Given the description of an element on the screen output the (x, y) to click on. 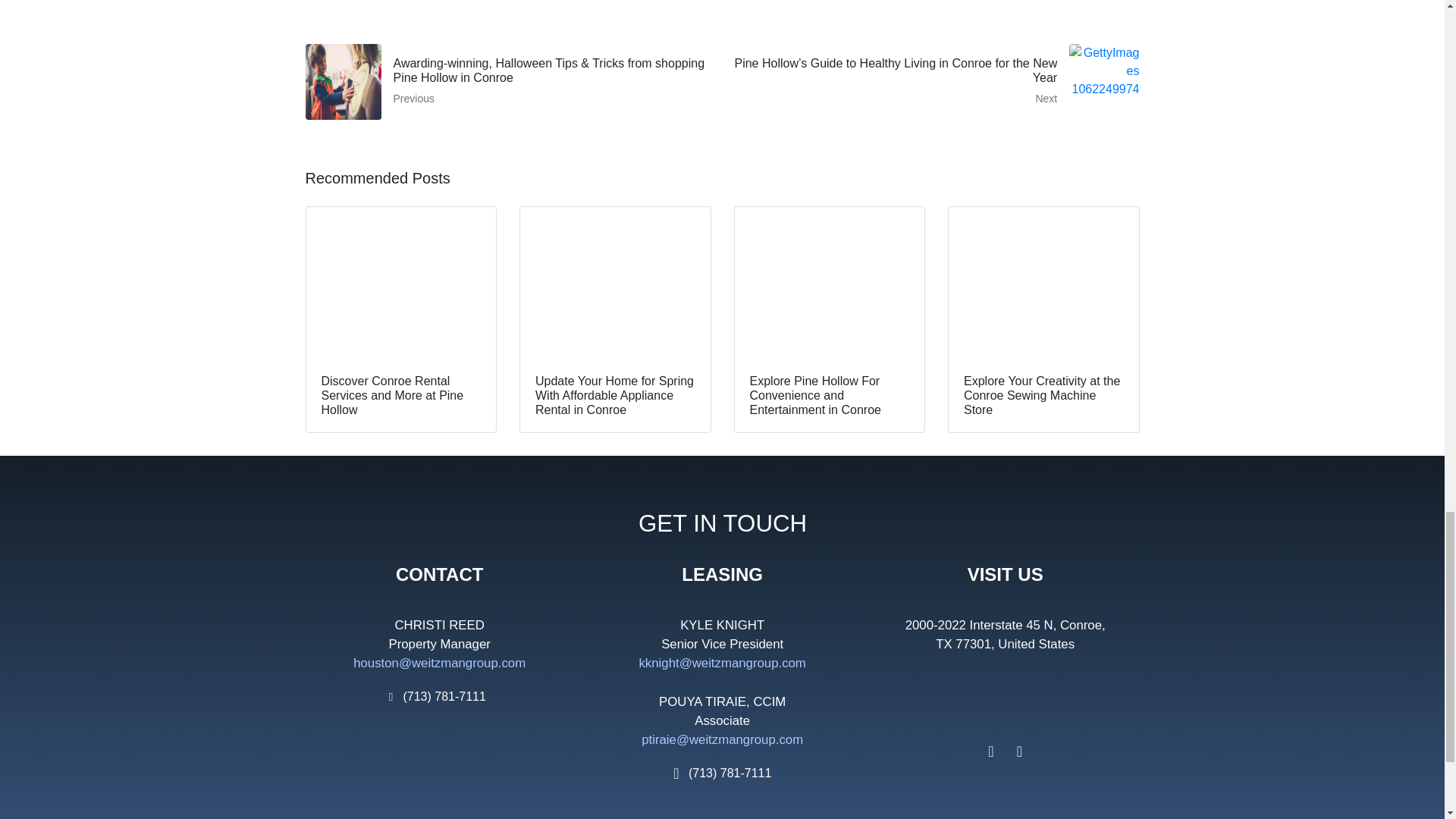
Discover Conroe Rental Services and More at Pine Hollow 3 (400, 282)
Explore Your Creativity at the Conroe Sewing Machine Store 6 (1043, 282)
